Given the description of an element on the screen output the (x, y) to click on. 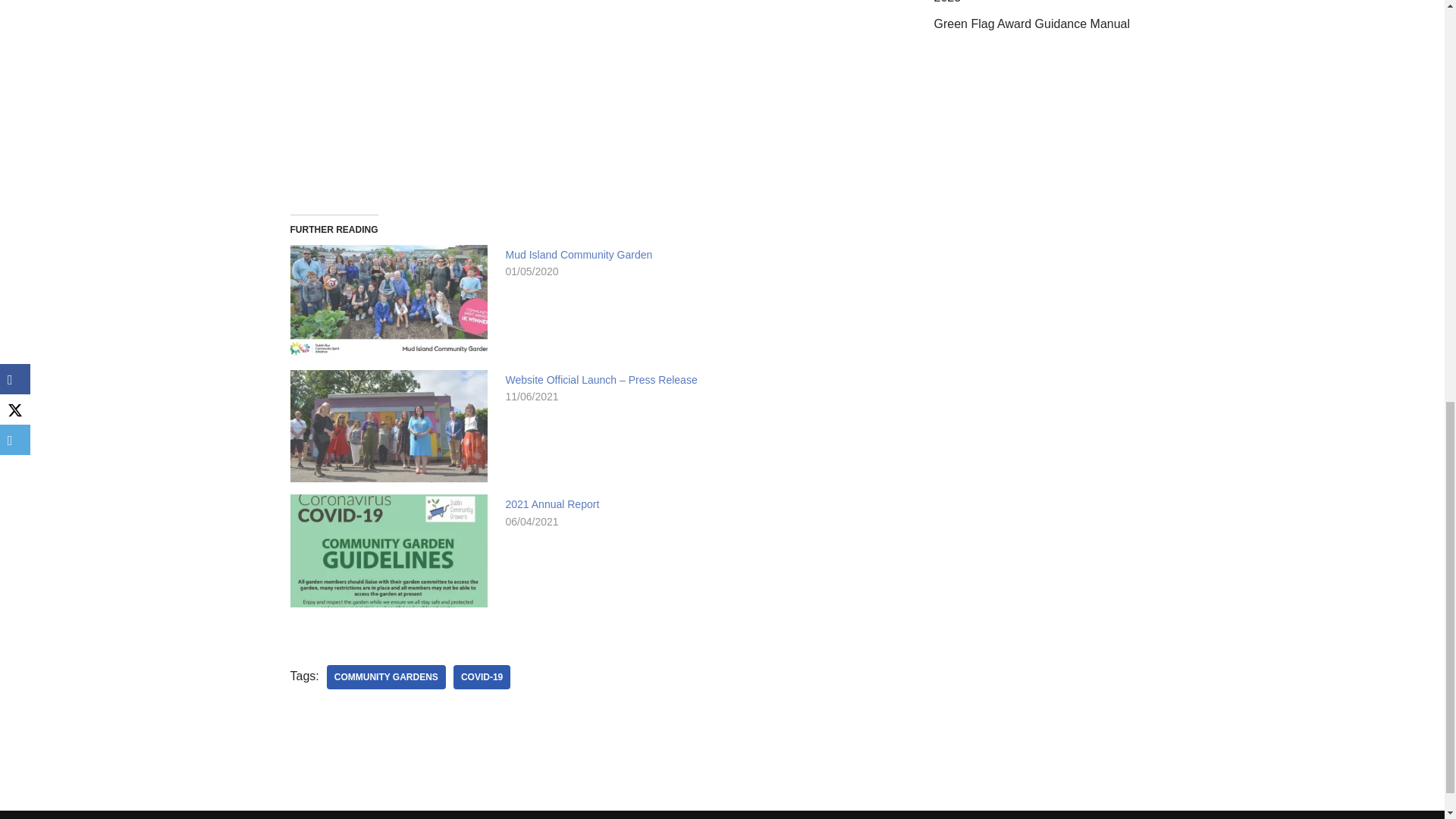
Community Gardens (385, 677)
2021 Annual Report (552, 503)
Covid-19 (481, 677)
Growing it yourself (588, 95)
Mud Island Community Garden (578, 254)
